Given the description of an element on the screen output the (x, y) to click on. 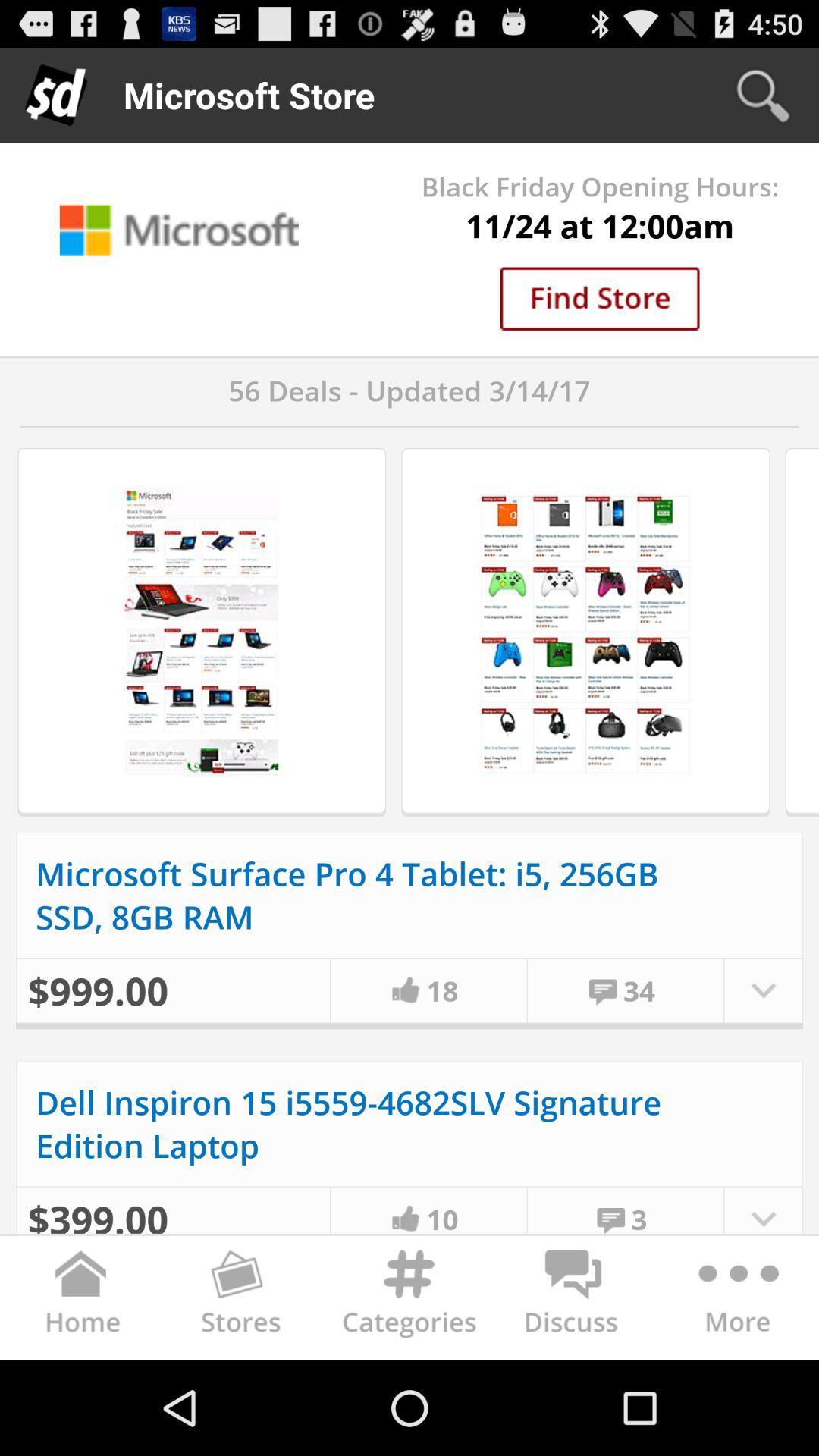
select the search icon (763, 95)
click on d icon (56, 95)
select microsoft and its icon (178, 229)
click on first block comment symbol (602, 990)
